Given the description of an element on the screen output the (x, y) to click on. 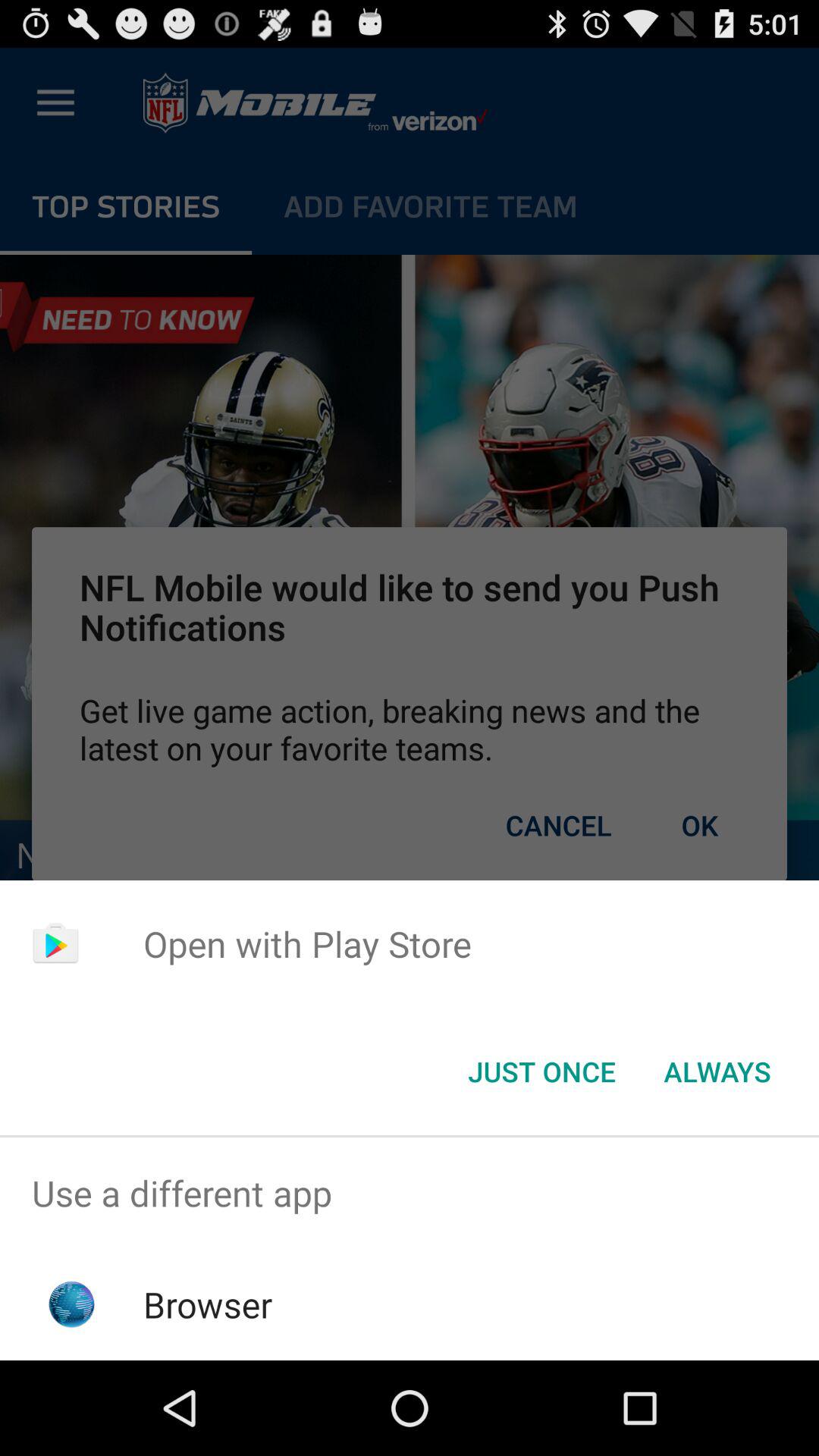
tap icon below the open with play app (717, 1071)
